Given the description of an element on the screen output the (x, y) to click on. 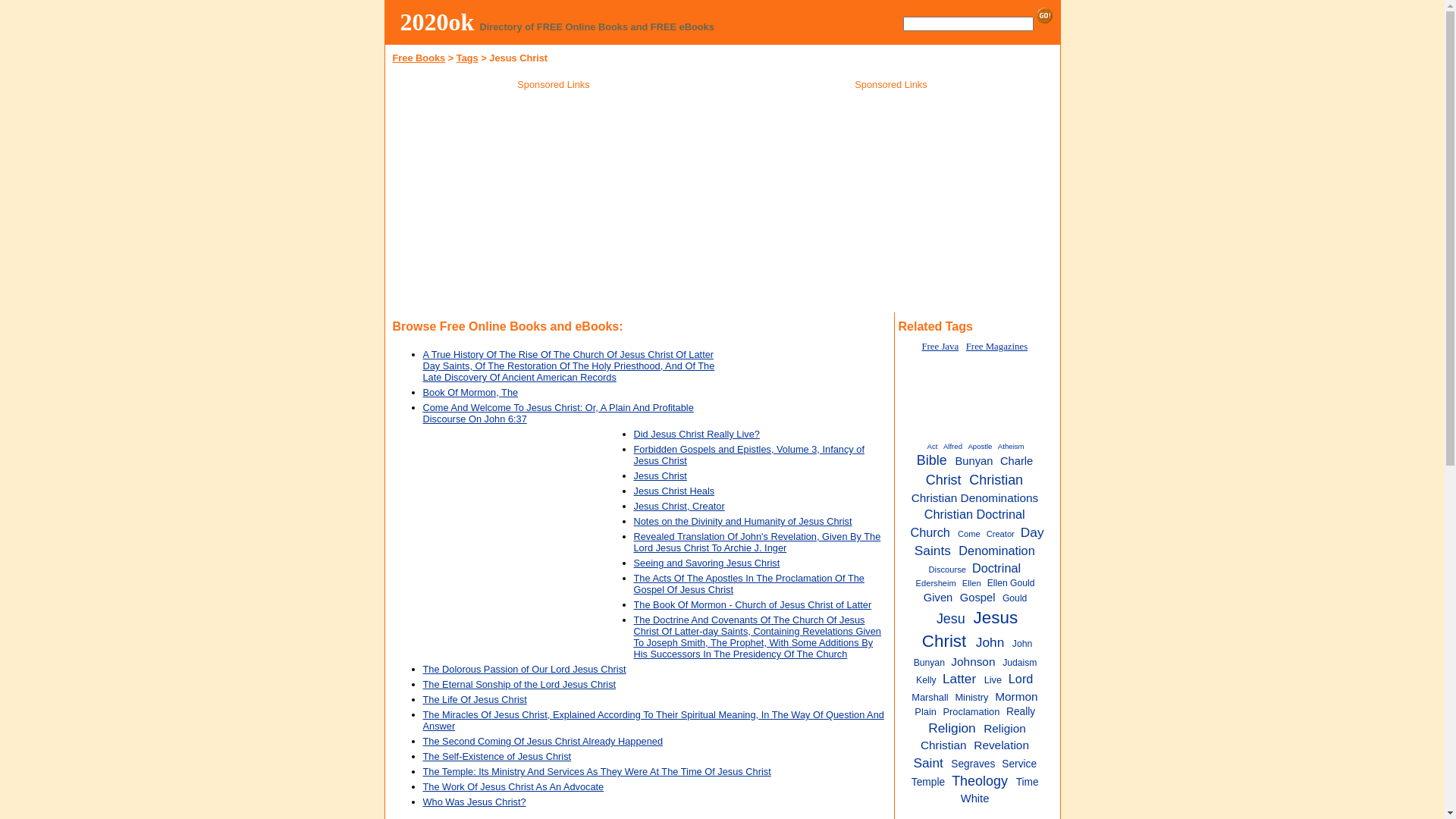
Advertisement Element type: hover (806, 375)
Jesus Christ Heals Element type: text (674, 490)
Atheism Element type: text (1012, 446)
Gospel Element type: text (980, 597)
Edersheim Element type: text (938, 582)
Advertisement Element type: hover (890, 203)
Jesus Christ, Creator Element type: text (678, 505)
Discourse Element type: text (948, 569)
White Element type: text (977, 798)
Christian Doctrinal Element type: text (976, 513)
Day Saints Element type: text (979, 541)
Jesus Christ Element type: text (660, 475)
Notes on the Divinity and Humanity of Jesus Christ Element type: text (742, 521)
Church Element type: text (932, 532)
Bible Element type: text (934, 459)
Who Was Jesus Christ? Element type: text (474, 801)
Act Element type: text (934, 446)
The Eternal Sonship of the Lord Jesus Christ Element type: text (519, 684)
2020ok Element type: text (437, 21)
John Bunyan Element type: text (972, 652)
Lord Element type: text (1023, 678)
Temple Element type: text (930, 781)
Segraves Element type: text (974, 763)
Christ Element type: text (945, 479)
Book Of Mormon, The Element type: text (470, 392)
Theology Element type: text (982, 780)
Live Element type: text (995, 679)
Seeing and Savoring Jesus Christ Element type: text (706, 562)
Judaism Element type: text (1021, 662)
Did Jesus Christ Really Live? Element type: text (696, 433)
Alfred Element type: text (954, 446)
Christian Denominations Element type: text (977, 497)
Advertisement Element type: hover (553, 203)
Revelation Element type: text (1003, 744)
Gould Element type: text (1016, 598)
Marshall Element type: text (931, 696)
The Dolorous Passion of Our Lord Jesus Christ Element type: text (524, 668)
Time Element type: text (1029, 781)
Proclamation Element type: text (973, 711)
Christian Element type: text (998, 479)
Ministry Element type: text (972, 696)
Johnson Element type: text (974, 661)
Doctrinal Element type: text (999, 567)
The Self-Existence of Jesus Christ Element type: text (497, 756)
Ellen Gould Element type: text (1012, 582)
Mormon Element type: text (1018, 696)
The Life Of Jesus Christ Element type: text (475, 699)
Service Element type: text (1020, 763)
Kelly Element type: text (927, 679)
Given Element type: text (940, 597)
The Work Of Jesus Christ As An Advocate Element type: text (513, 786)
Ellen Element type: text (973, 582)
Denomination Element type: text (998, 550)
The Second Coming Of Jesus Christ Already Happened Element type: text (543, 740)
Religion Christian Element type: text (973, 736)
Charle Element type: text (1018, 461)
The Book Of Mormon - Church of Jesus Christ of Latter Element type: text (752, 604)
Tags Element type: text (467, 57)
Come Element type: text (970, 533)
Bunyan Element type: text (975, 461)
Plain Element type: text (927, 711)
Jesu Element type: text (953, 618)
Saint Element type: text (930, 762)
John Element type: text (992, 641)
Free Books Element type: text (418, 57)
Apostle Element type: text (980, 446)
Really Element type: text (1022, 711)
Latter Element type: text (961, 678)
Free Magazines Element type: text (996, 346)
Jesus Christ Element type: text (969, 629)
Religion Element type: text (954, 727)
Free Java Element type: text (939, 346)
Creator Element type: text (1002, 533)
